Given the description of an element on the screen output the (x, y) to click on. 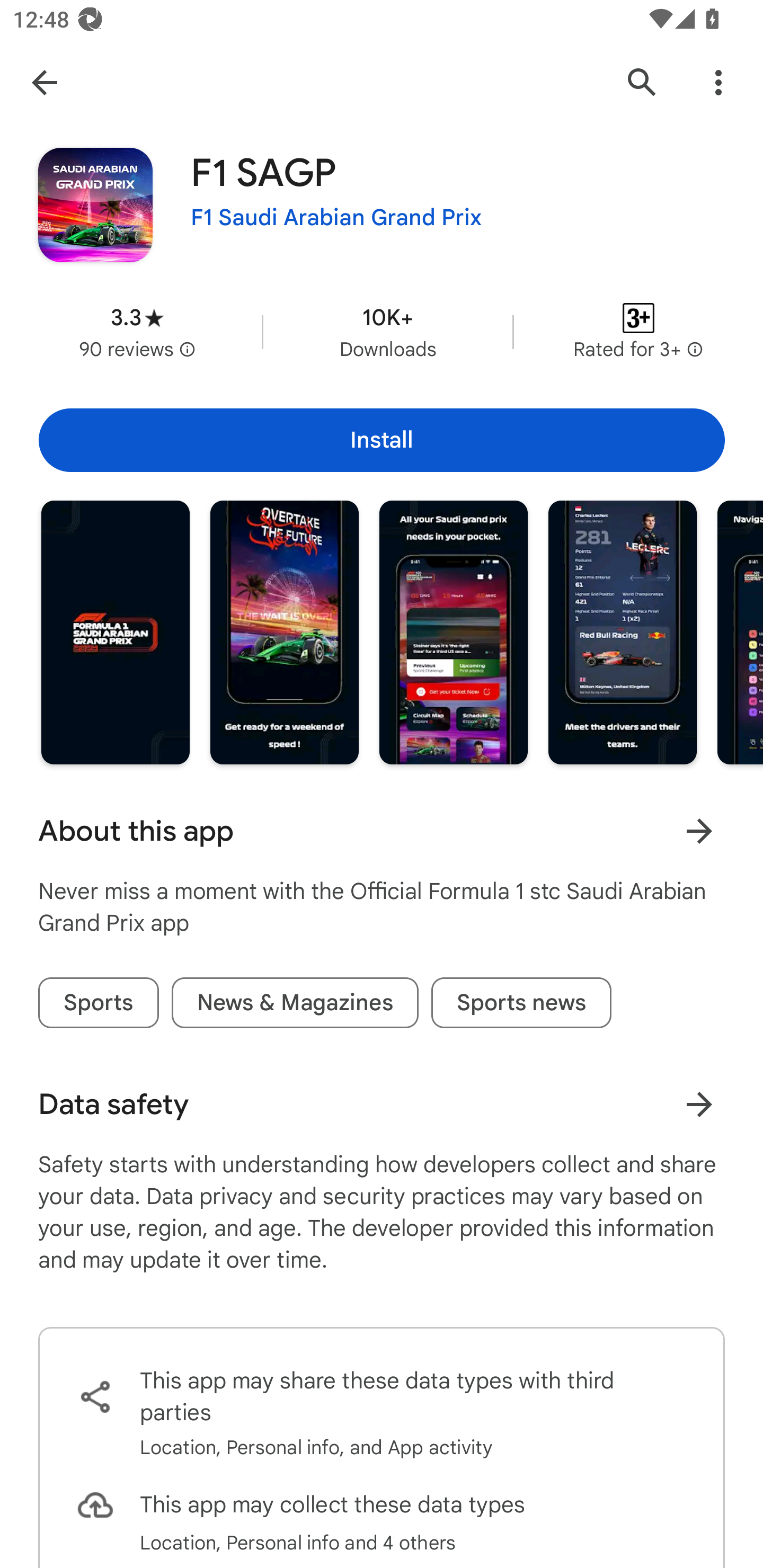
Navigate up (44, 81)
Search Google Play (642, 81)
More Options (718, 81)
F1 Saudi Arabian Grand Prix (336, 217)
Average rating 3.3 stars in 90 reviews (137, 331)
Content rating Rated for 3+ (638, 331)
Install (381, 439)
Screenshot "1" of "7" (115, 632)
Screenshot "2" of "7" (284, 632)
Screenshot "3" of "7" (453, 632)
Screenshot "4" of "7" (622, 632)
About this app Learn more About this app (381, 830)
Learn more About this app (699, 830)
Sports tag (98, 1002)
News & Magazines tag (294, 1002)
Sports news tag (521, 1002)
Data safety Learn more about data safety (381, 1104)
Learn more about data safety (699, 1104)
